Given the description of an element on the screen output the (x, y) to click on. 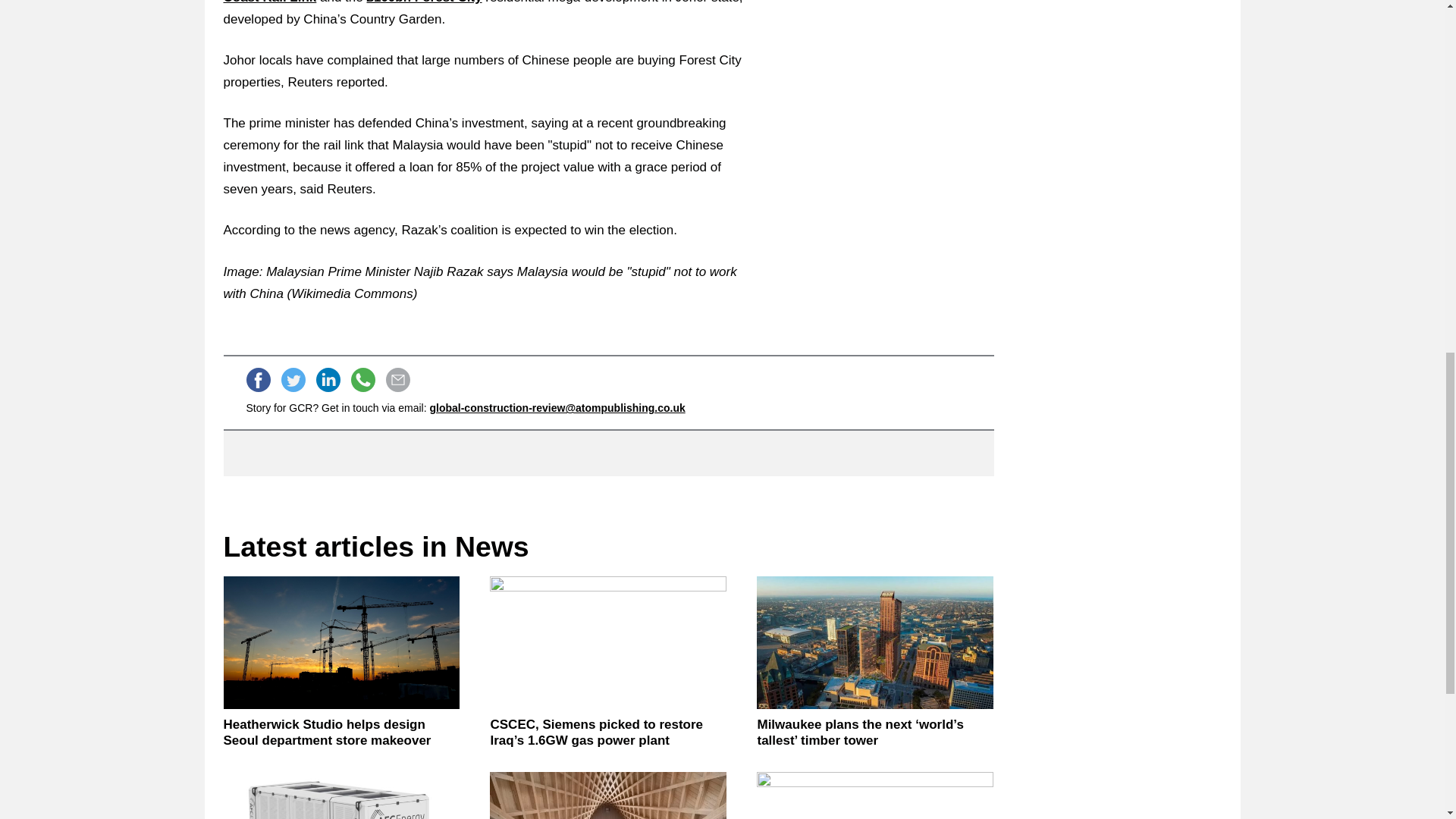
Share on WhatsApp (362, 379)
Share on LinkedIn (327, 379)
Send email (397, 379)
Share on Facebook (257, 379)
Tweet (292, 379)
